Given the description of an element on the screen output the (x, y) to click on. 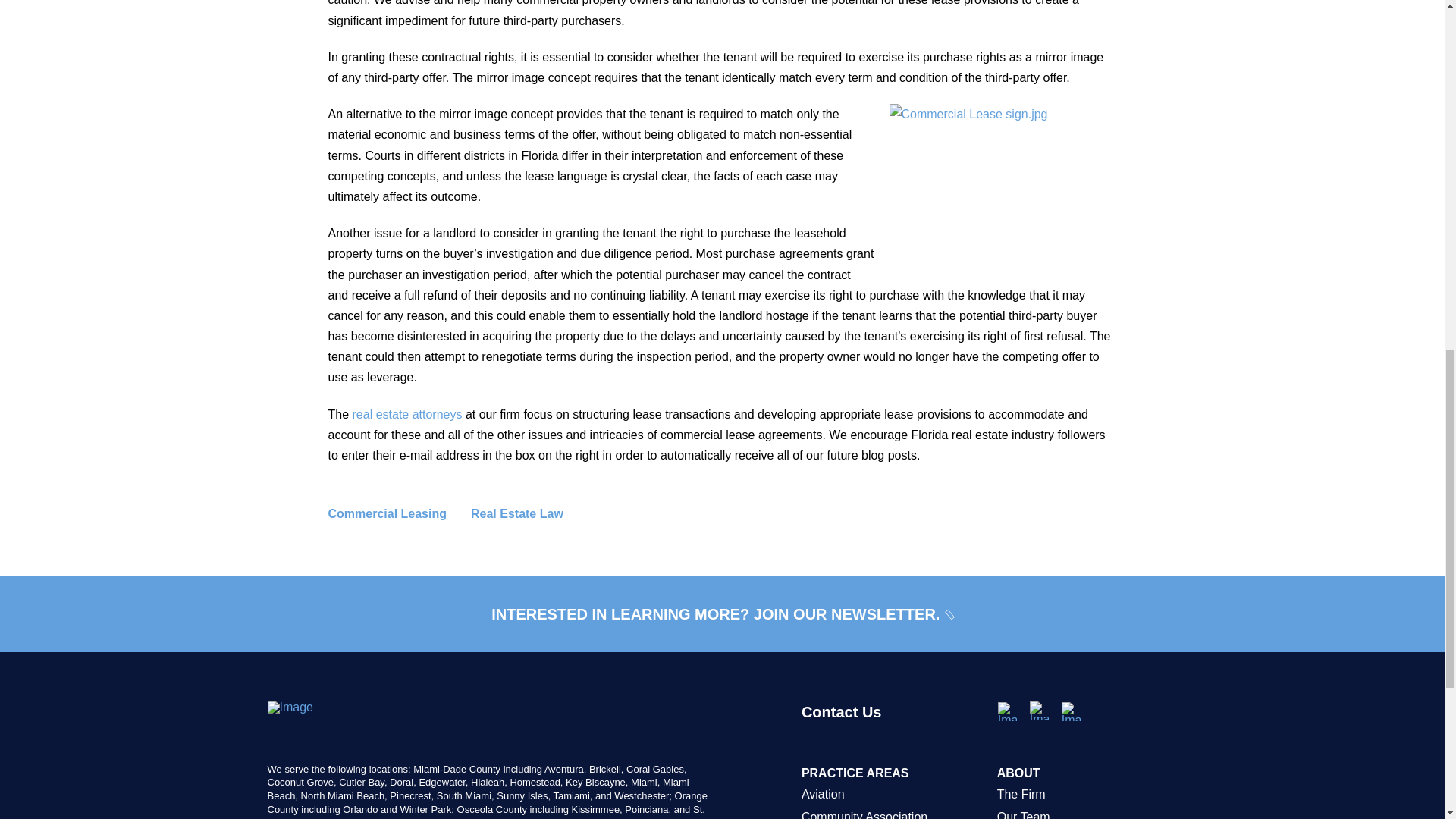
real estate attorneys (407, 413)
Contact Us (891, 731)
Aviation (891, 793)
Commercial Leasing (398, 514)
Real Estate Law (529, 514)
